Given the description of an element on the screen output the (x, y) to click on. 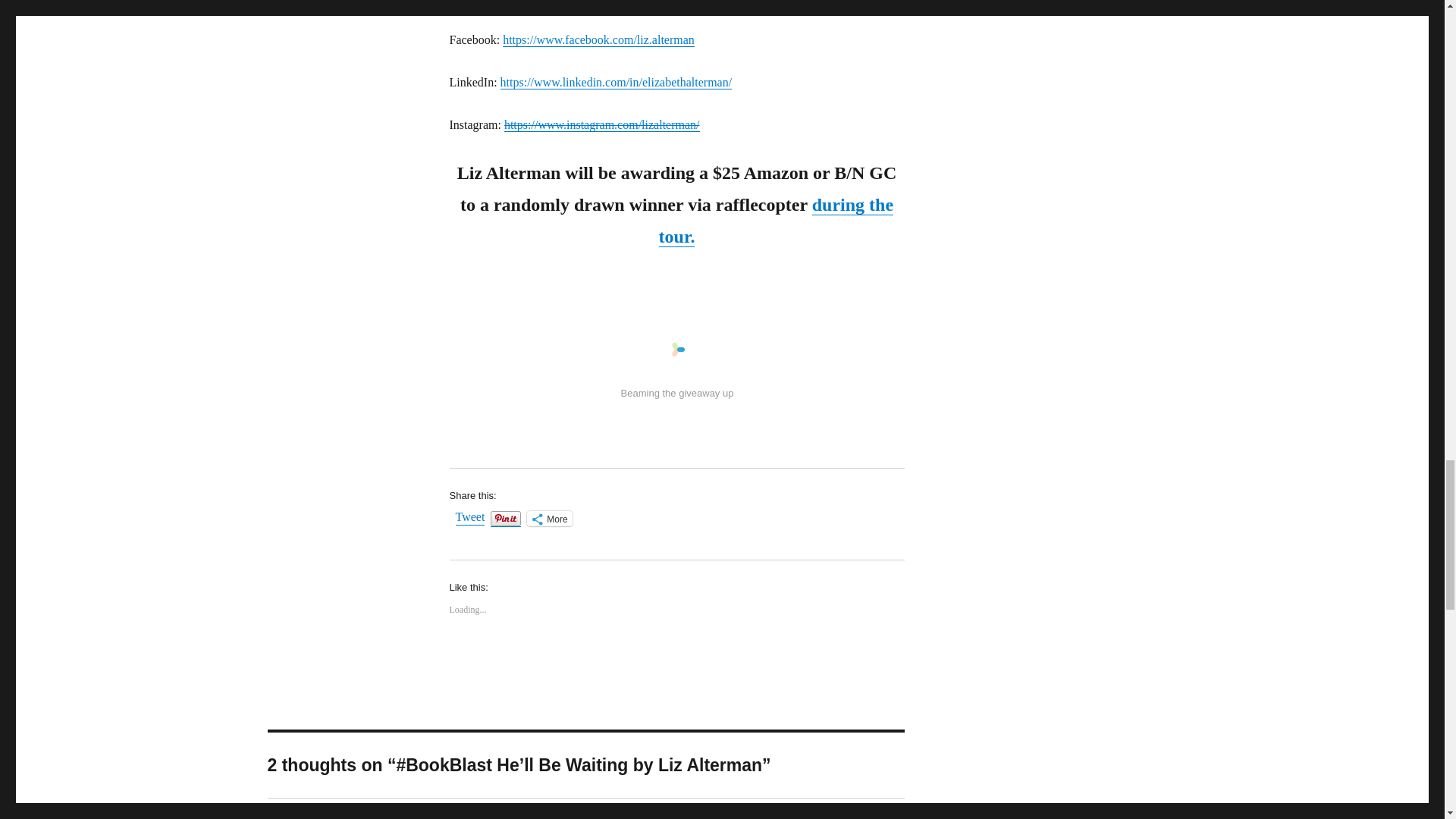
More (549, 518)
during the tour. (776, 220)
Tweet (469, 517)
